Given the description of an element on the screen output the (x, y) to click on. 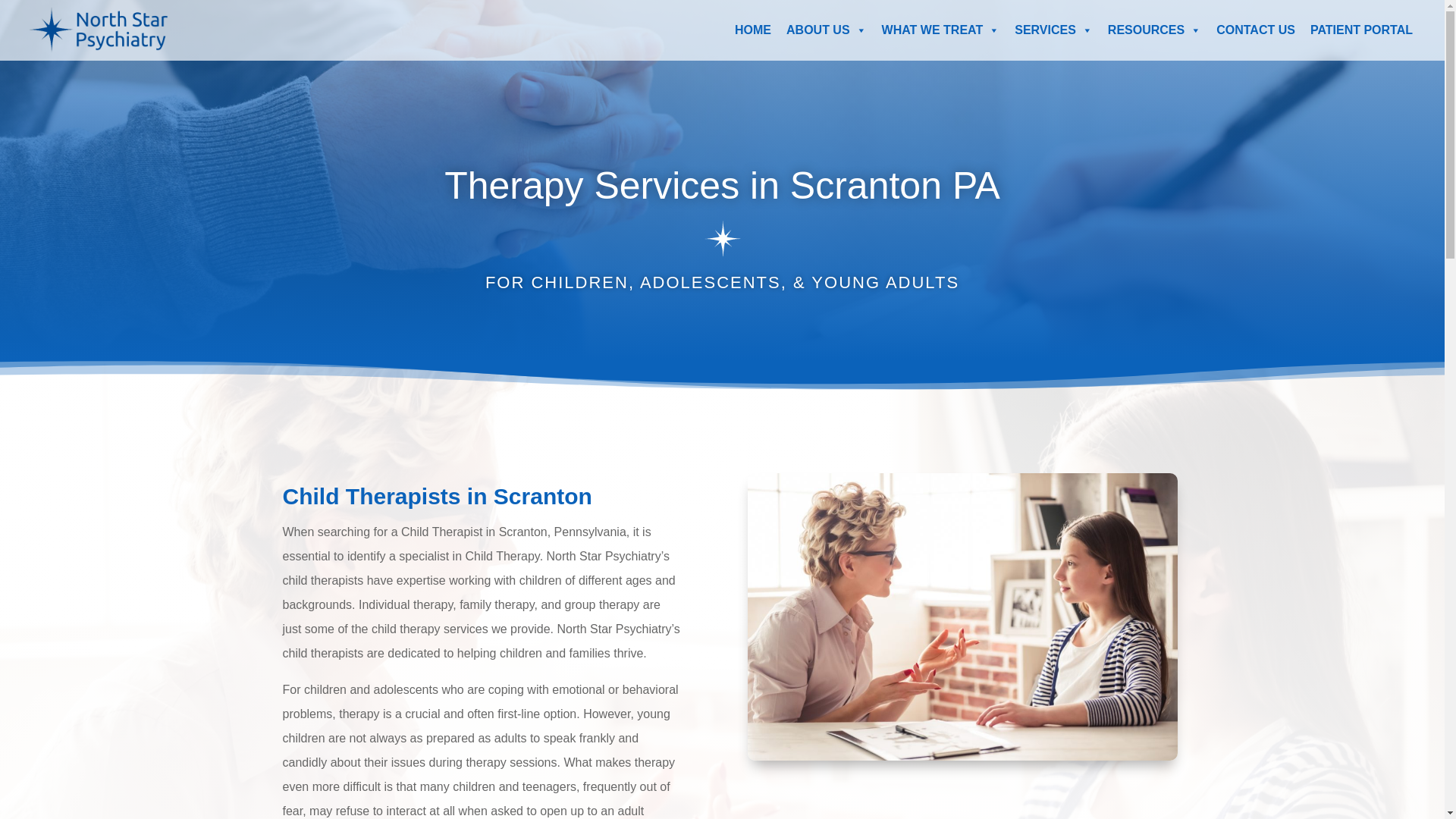
RESOURCES (1154, 30)
WHAT WE TREAT (941, 30)
SERVICES (1053, 30)
North Star (722, 238)
Therapy Services for Children in Scranton PA (962, 616)
PATIENT PORTAL (1362, 30)
ABOUT US (826, 30)
CONTACT US (1255, 30)
